Given the description of an element on the screen output the (x, y) to click on. 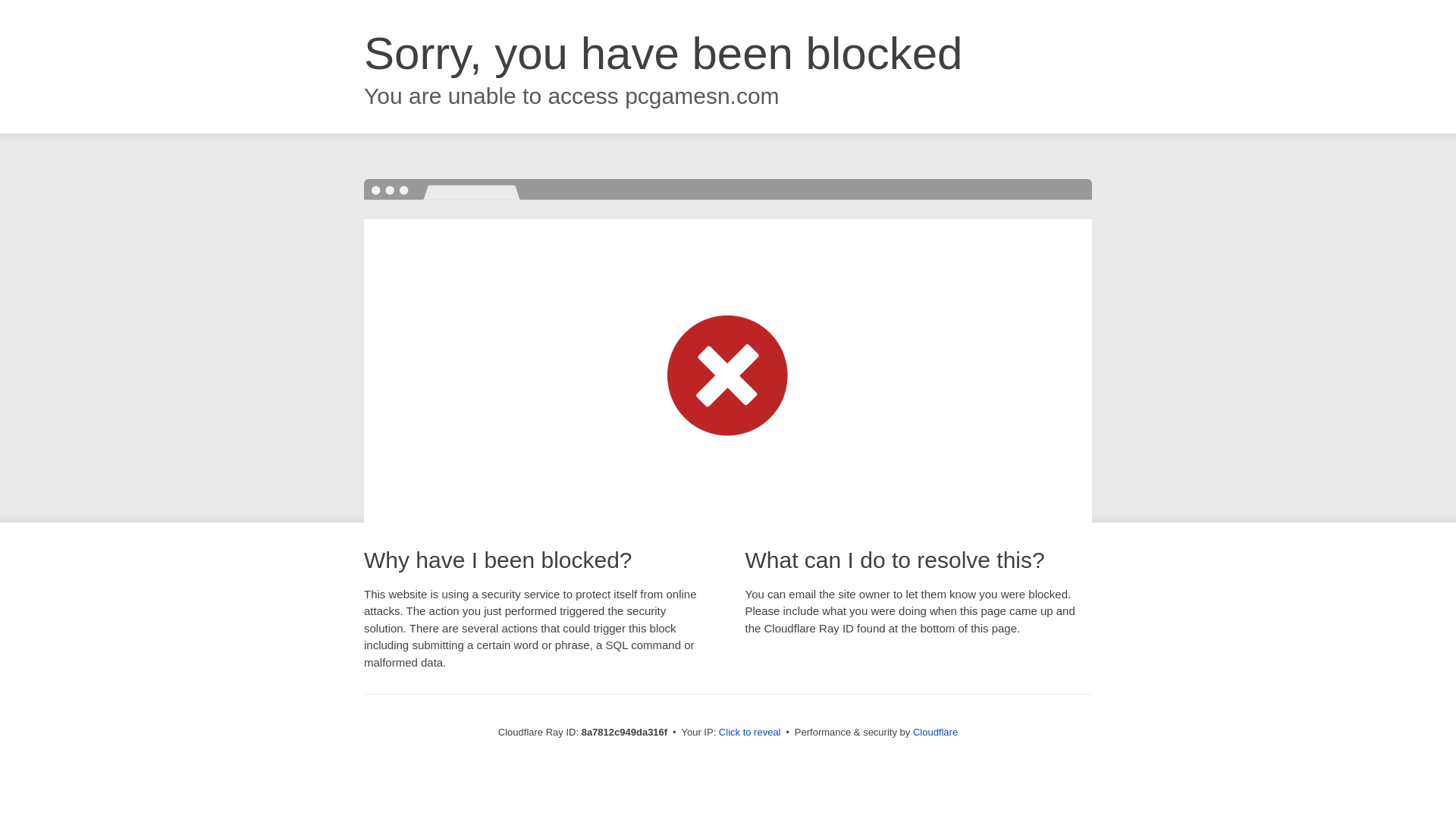
Click to reveal (749, 732)
Cloudflare (935, 731)
